Given the description of an element on the screen output the (x, y) to click on. 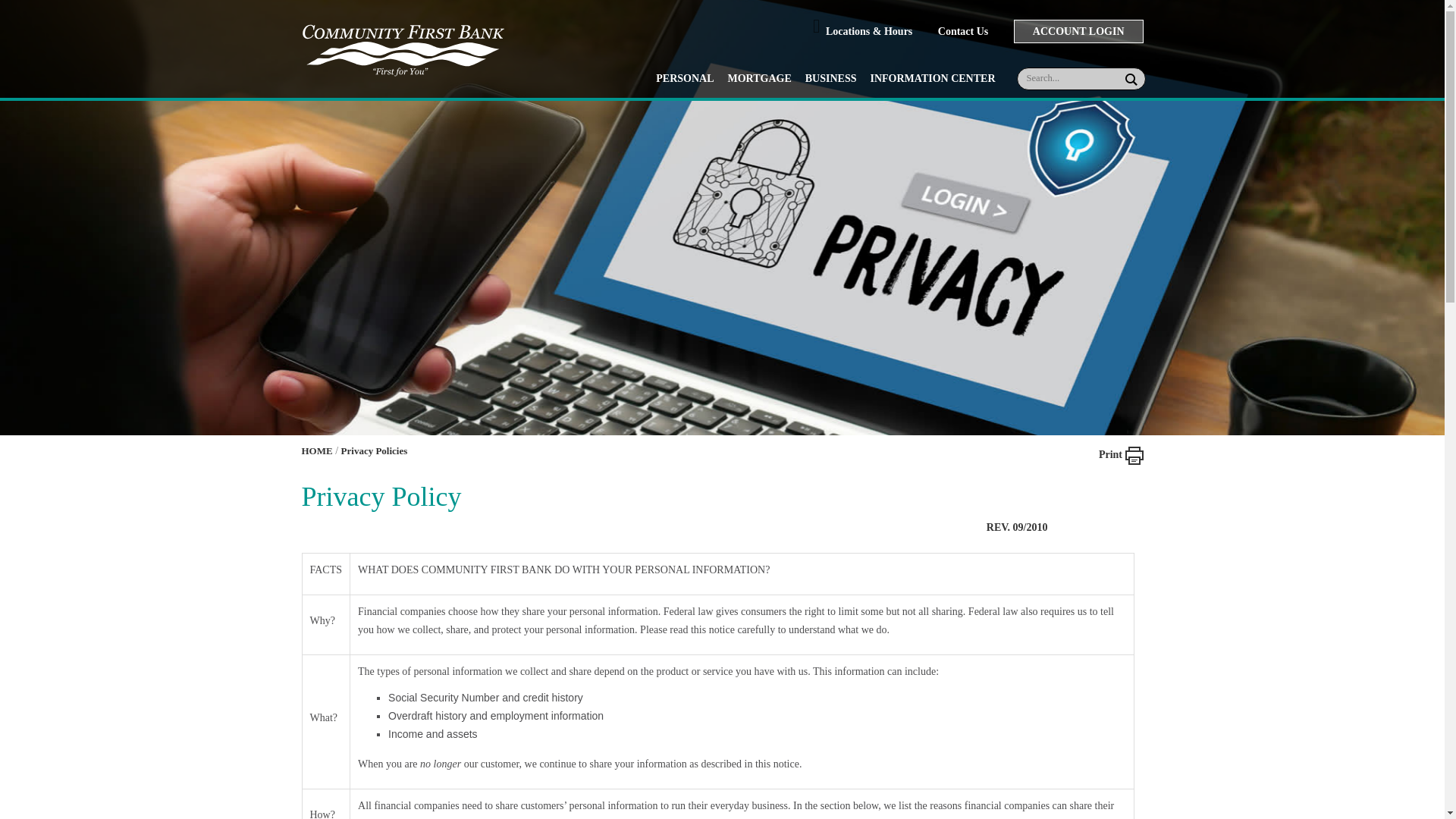
Clear search text (1116, 80)
ACCOUNT LOGIN (1077, 31)
Contact Us (974, 30)
PERSONAL (684, 77)
Community First Bank (402, 47)
